Given the description of an element on the screen output the (x, y) to click on. 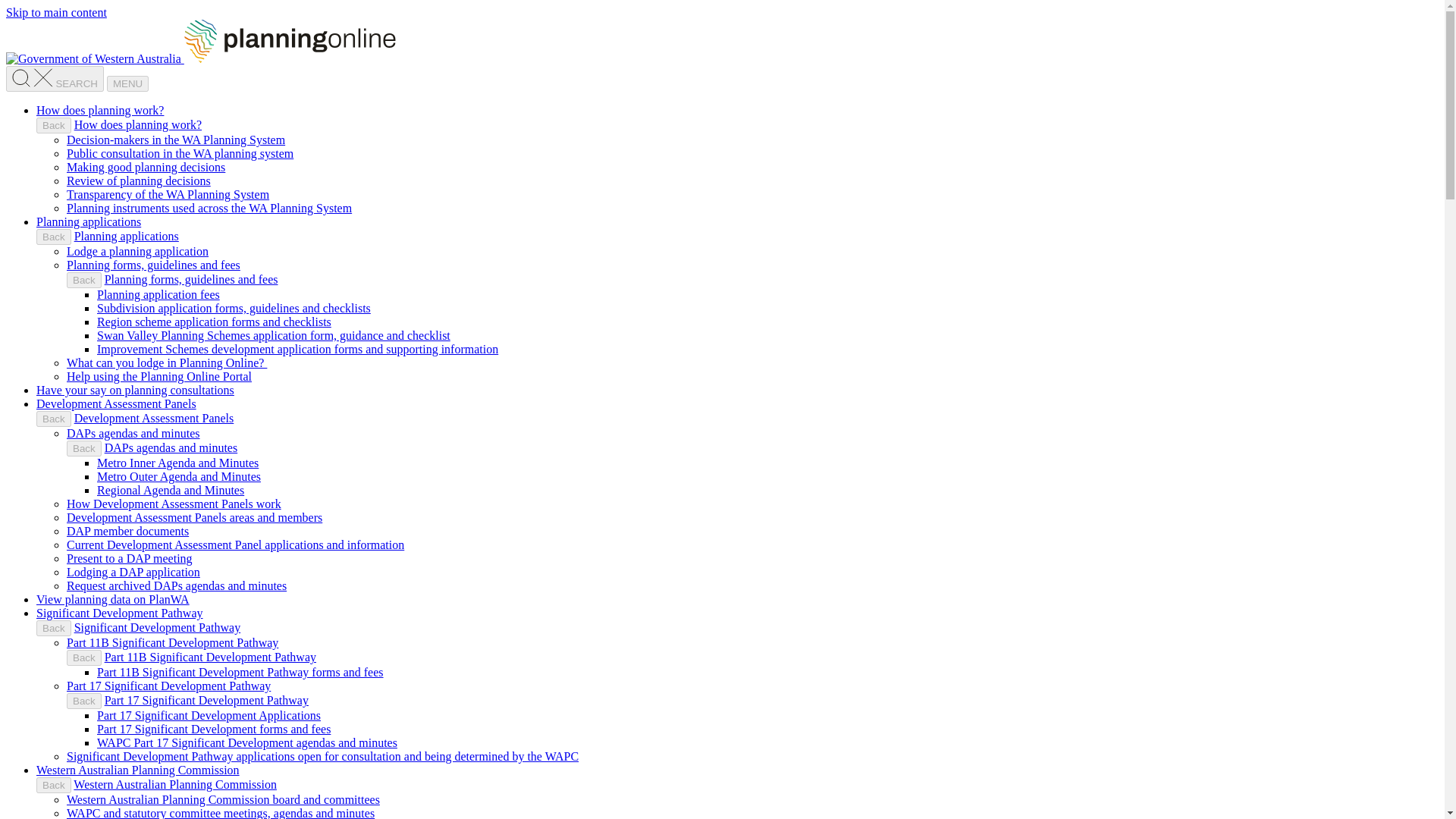
Transparency of the WA Planning System (167, 194)
Back (53, 236)
Have your say on planning consultations (135, 390)
DAPs agendas and minutes (133, 432)
How does planning work? (138, 124)
Help using the Planning Online Portal (158, 376)
Review of planning decisions (138, 180)
Planning forms, guidelines and fees (153, 264)
Development Assessment Panels areas and members (193, 517)
Back (83, 448)
DAPs agendas and minutes (171, 447)
Metro Inner Agenda and Minutes (178, 462)
Planning application fees (158, 294)
Back (53, 418)
SEARCH (54, 78)
